Given the description of an element on the screen output the (x, y) to click on. 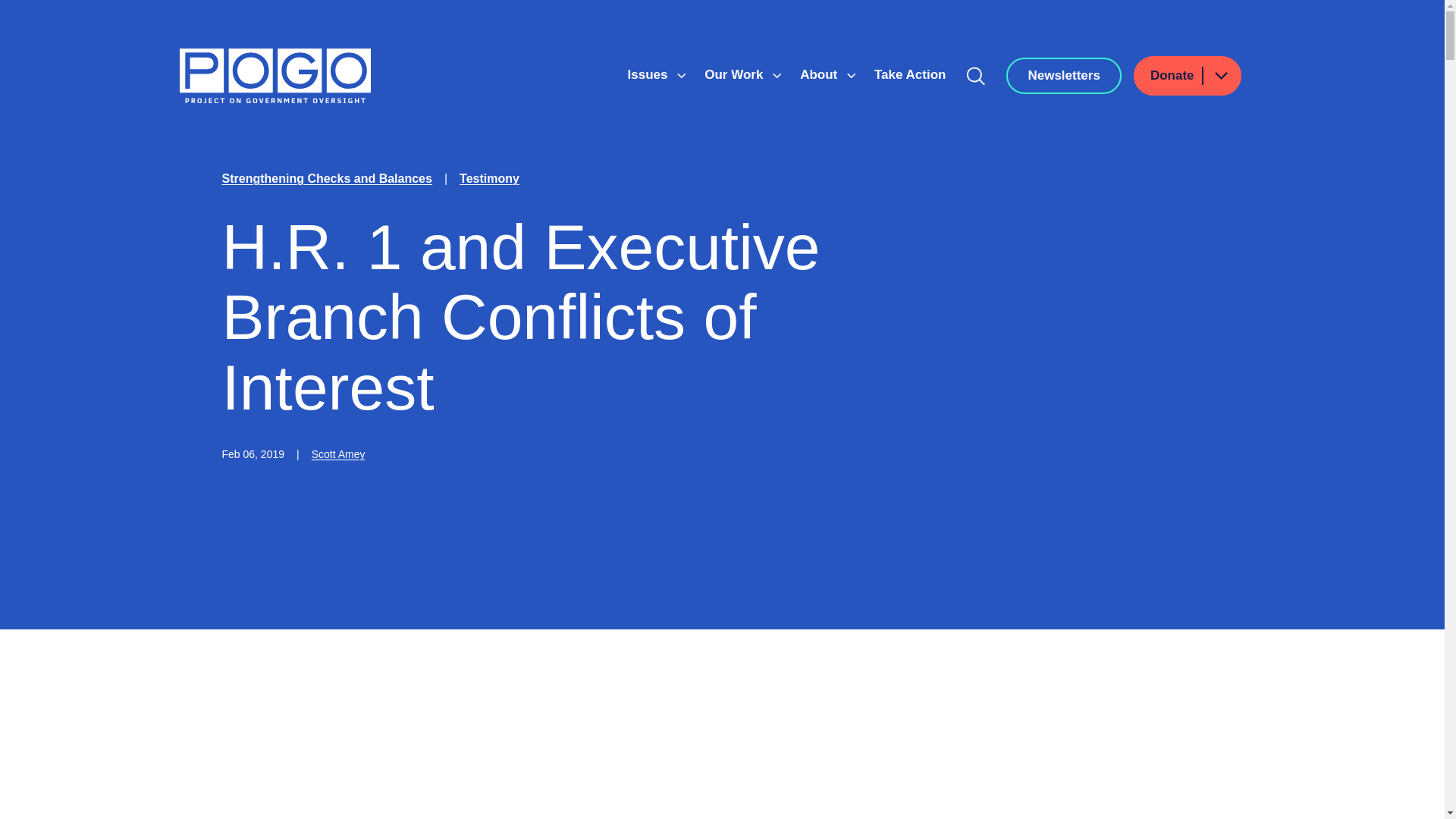
Our Work (735, 74)
Show submenu for Donate (1220, 75)
Newsletters (1063, 75)
Show submenu for Issues (681, 75)
Home (274, 75)
Issues (649, 74)
Donate (1187, 75)
Show submenu for Our Work (777, 75)
Search (976, 75)
About (820, 74)
